Given the description of an element on the screen output the (x, y) to click on. 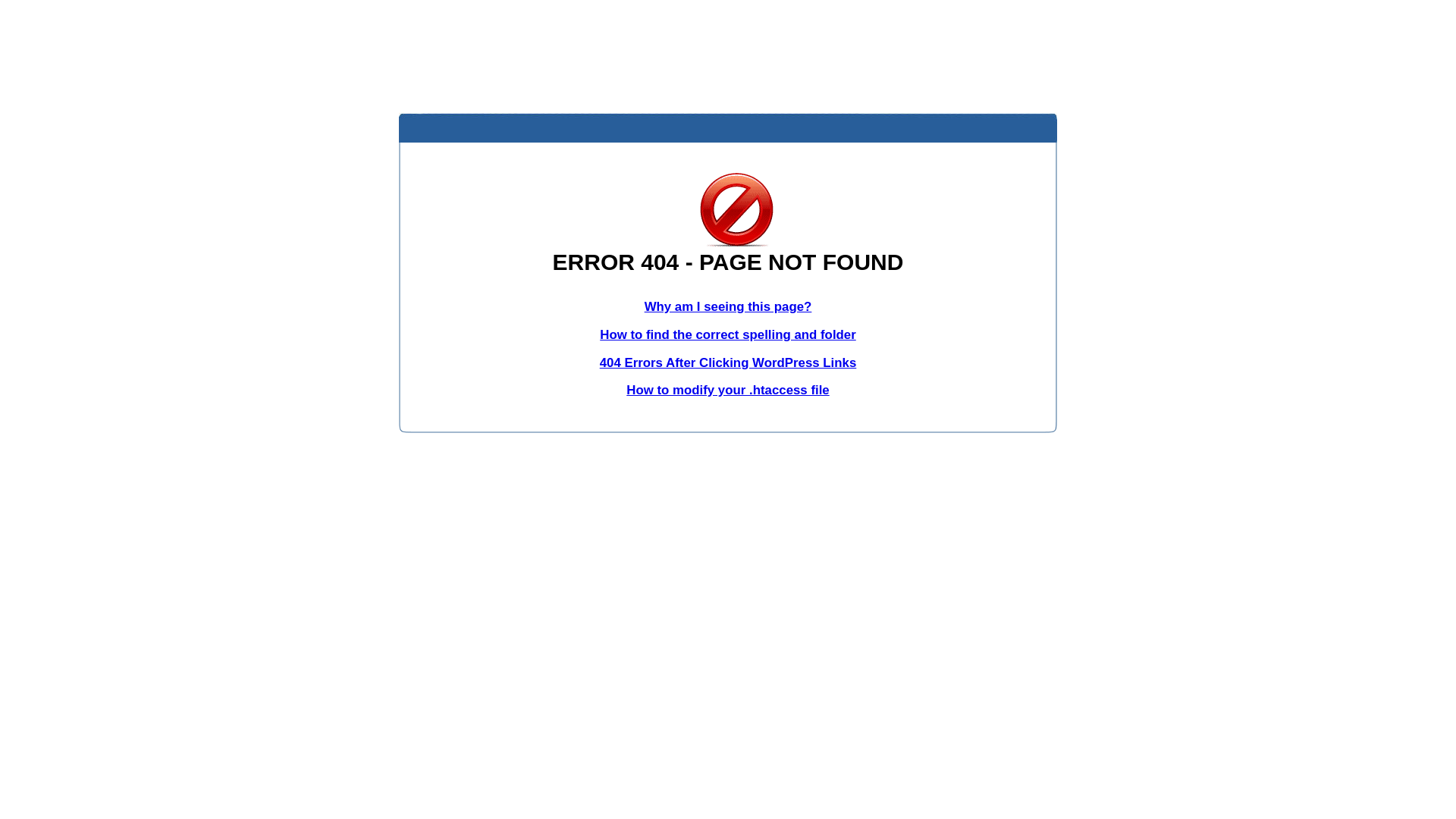
How to modify your .htaccess file Element type: text (727, 389)
How to find the correct spelling and folder Element type: text (727, 334)
Why am I seeing this page? Element type: text (728, 306)
404 Errors After Clicking WordPress Links Element type: text (727, 362)
